Given the description of an element on the screen output the (x, y) to click on. 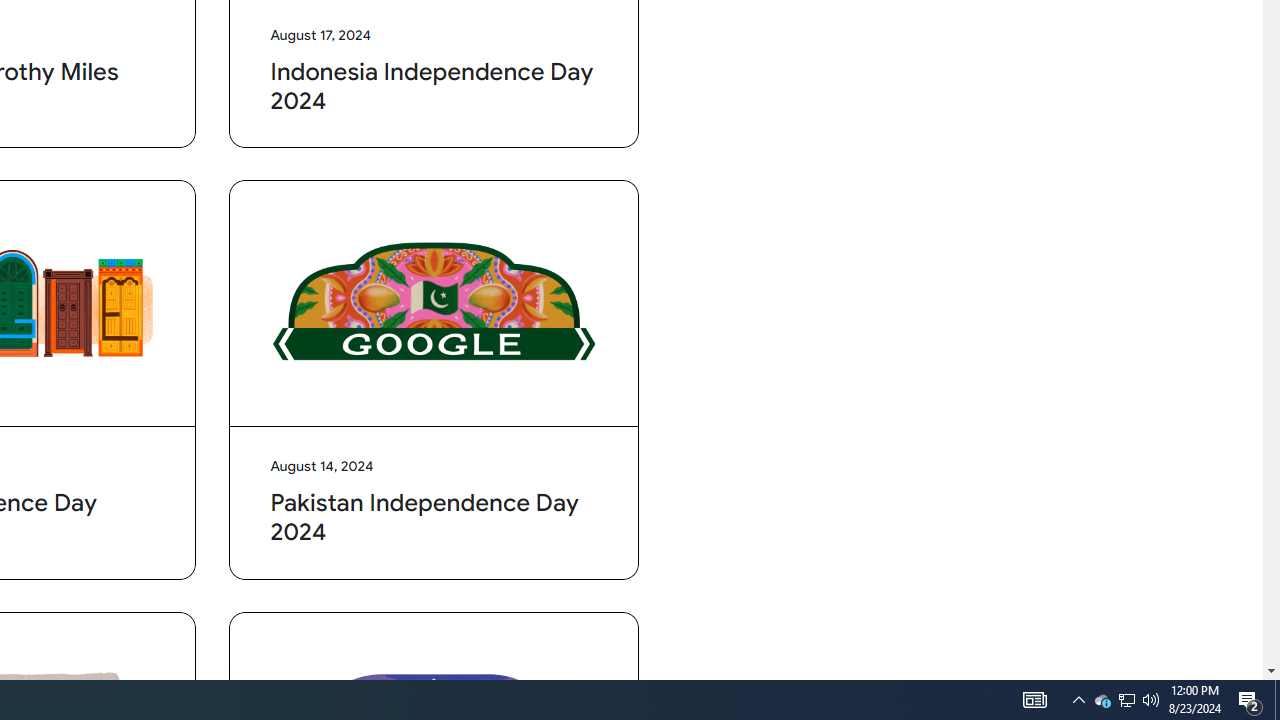
Pakistan Independence Day 2024 (433, 304)
